Given the description of an element on the screen output the (x, y) to click on. 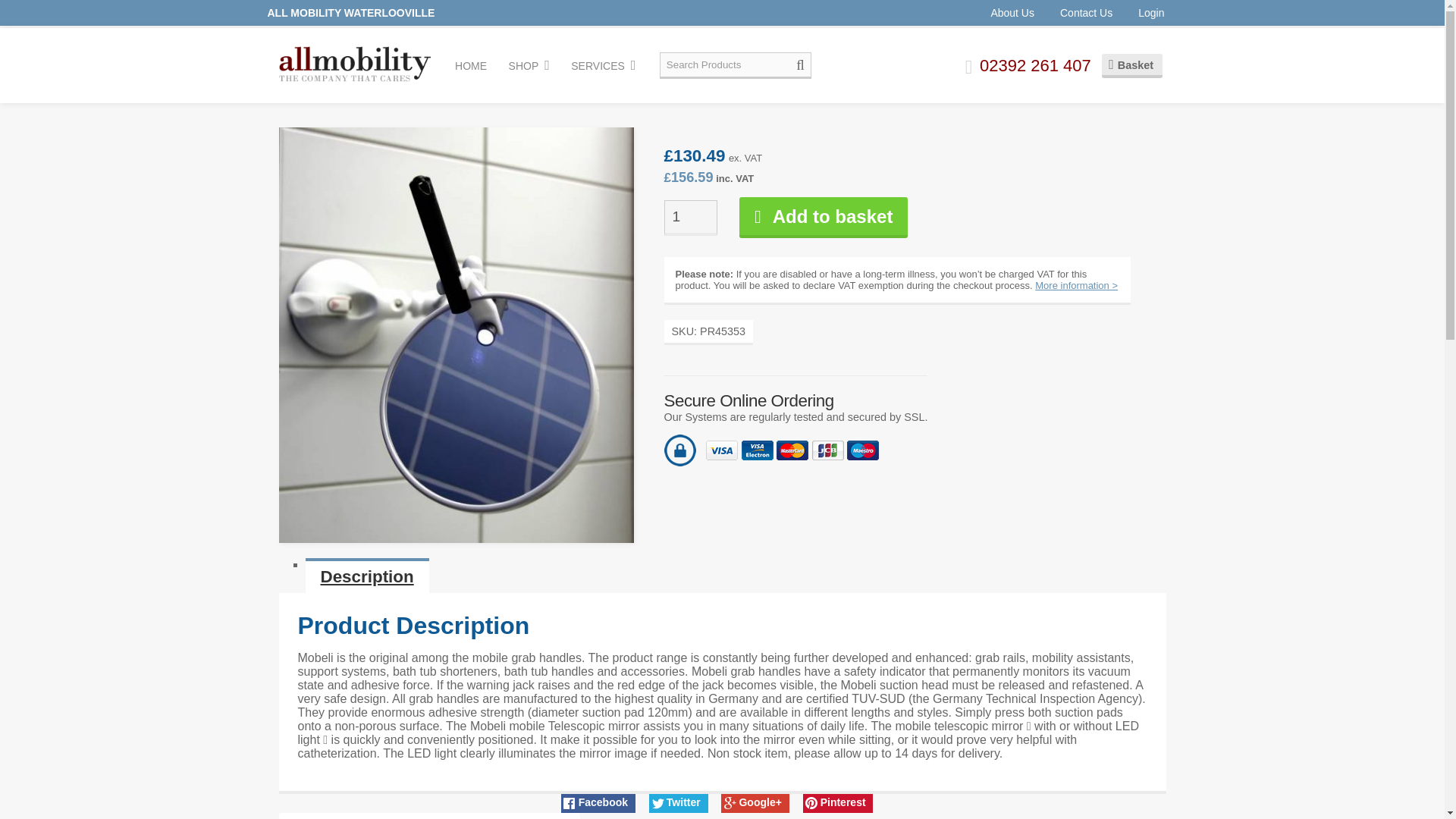
Basket (1131, 64)
1 (690, 217)
HOME (469, 65)
Qty (690, 217)
About Us (1011, 12)
SERVICES (603, 65)
Share link on Facebook (597, 802)
Contact Us (1085, 12)
Add to basket (823, 217)
Share image on Pinterest (838, 802)
Description (366, 574)
All Mobility (354, 63)
Login (1150, 12)
SHOP (528, 65)
View your shopping basket (1131, 64)
